Given the description of an element on the screen output the (x, y) to click on. 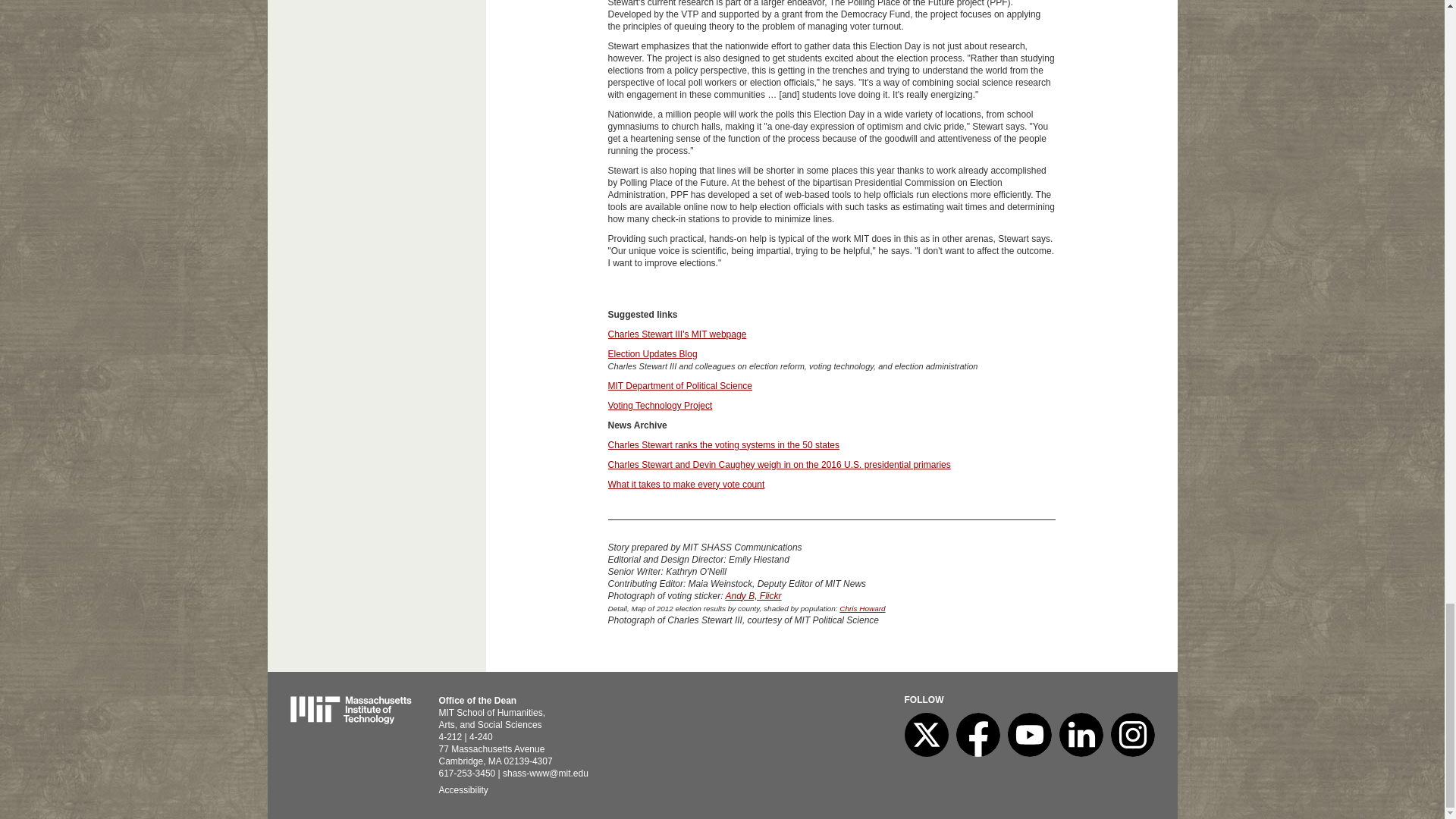
Visit us on X (925, 754)
Visit us on YouTube (1029, 754)
Visit us on Instagram (1131, 754)
Visit us on Facebook (976, 754)
Visit us on LinkedIn (1080, 754)
MIT home (349, 720)
